Given the description of an element on the screen output the (x, y) to click on. 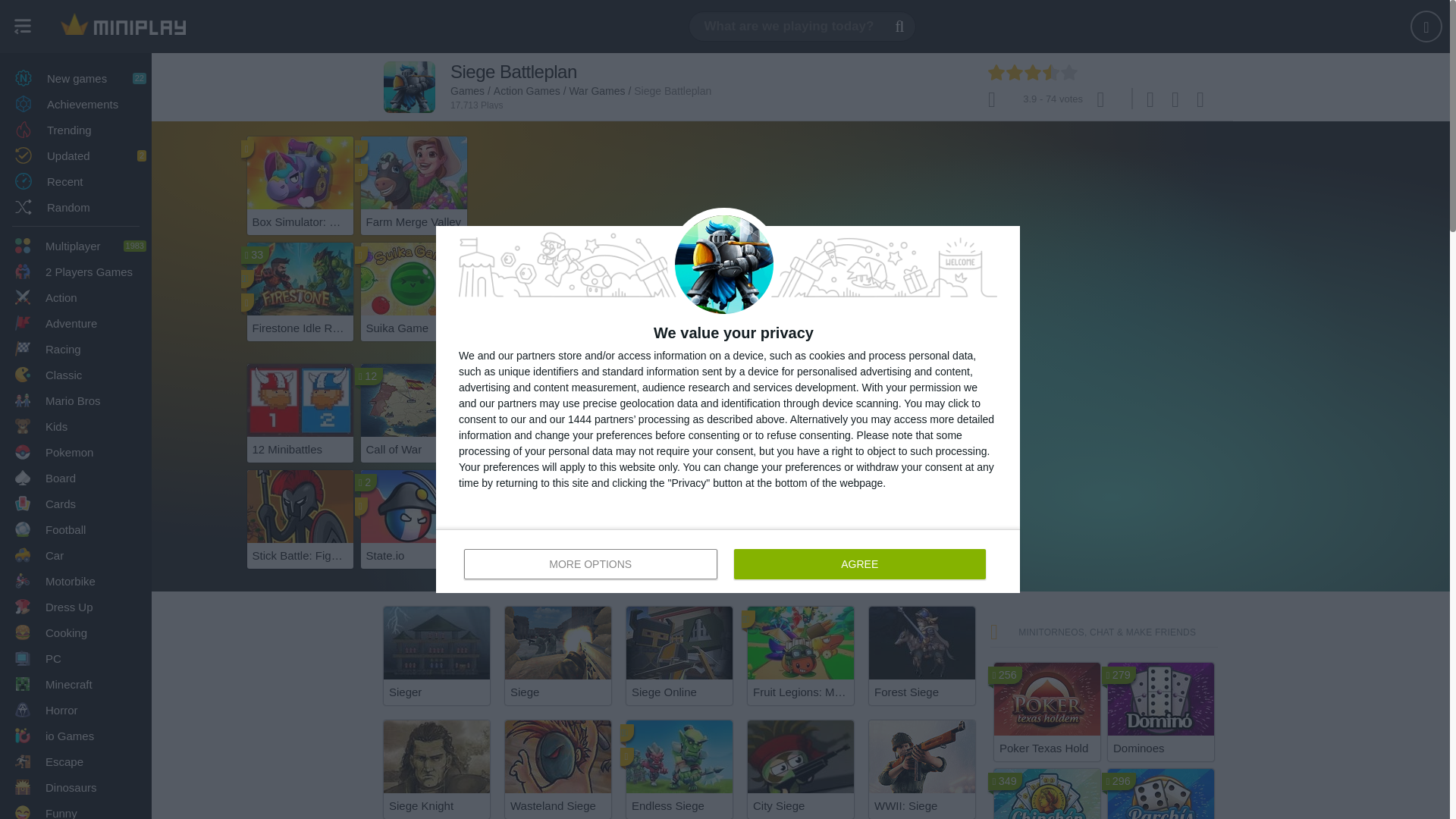
AGREE (859, 563)
io Games (75, 735)
Random (75, 207)
Classic Games (75, 374)
New games (75, 77)
Cards (75, 503)
Motorbike (75, 580)
Mario Bros (75, 400)
2 Players Games (75, 271)
Random (75, 207)
Games (122, 26)
Adventure (75, 322)
Horror (75, 709)
2 Players Games (75, 245)
